Given the description of an element on the screen output the (x, y) to click on. 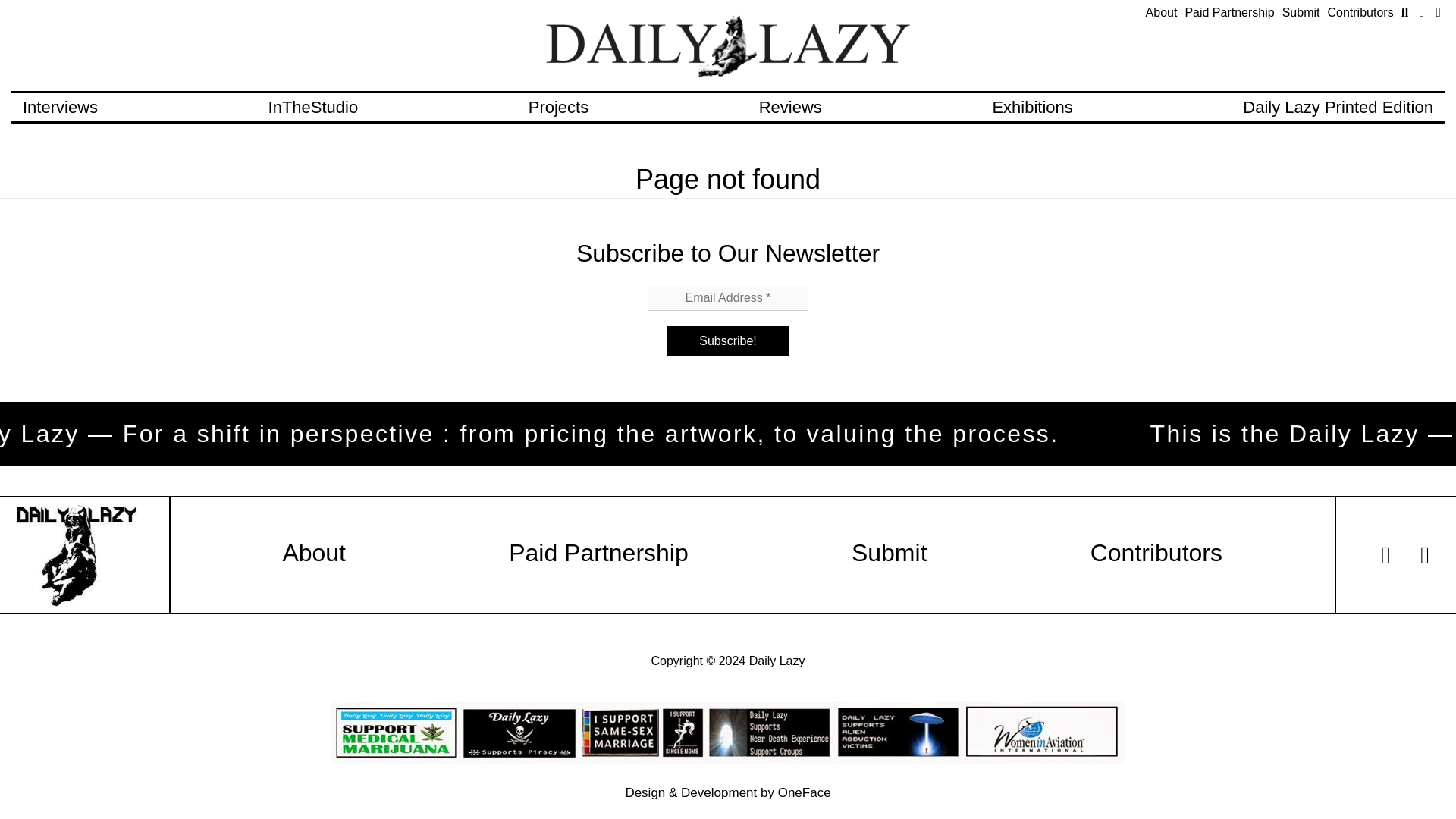
Submit (1301, 11)
Paid Partnership (1229, 11)
About (314, 552)
Email Address (727, 298)
Submit (889, 552)
Paid Partnership (598, 552)
Interviews (60, 107)
Daily Lazy Printed Edition (1337, 107)
Contributors (1156, 552)
Reviews (790, 107)
